Given the description of an element on the screen output the (x, y) to click on. 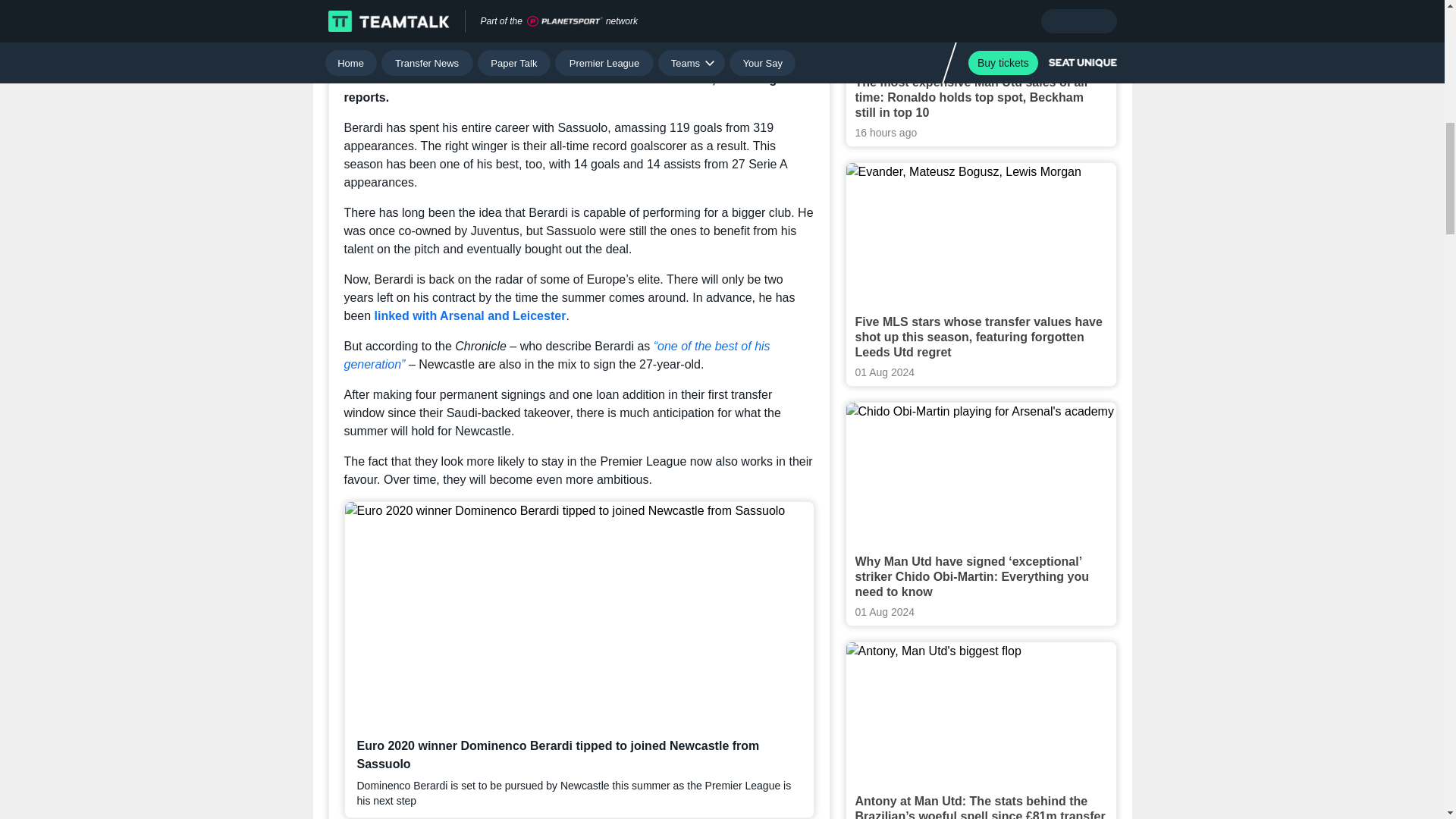
Domenico Berardi dribbling alongside Hakan Calhanoglu (579, 20)
